Given the description of an element on the screen output the (x, y) to click on. 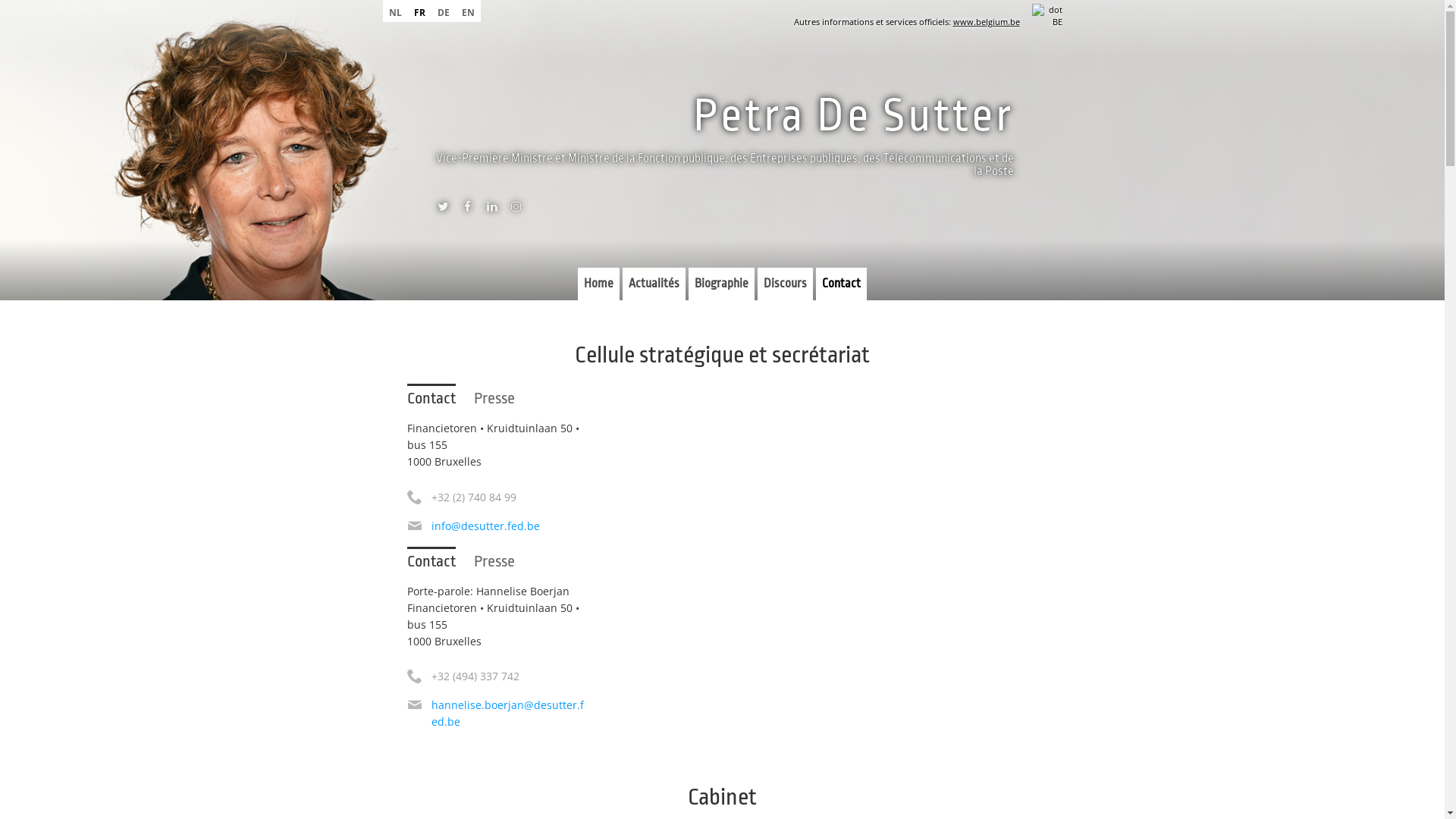
www.belgium.be Element type: text (985, 21)
Petra De Sutter Element type: text (853, 115)
Home Element type: text (598, 284)
Contact Element type: text (430, 397)
Presse Element type: text (493, 398)
hannelise.boerjan@desutter.fed.be Element type: text (506, 712)
facebook Element type: text (467, 209)
EN Element type: text (467, 11)
Contact Element type: text (841, 284)
NL Element type: text (394, 11)
Presse Element type: text (493, 561)
Aller au contenu principal Element type: text (73, 0)
linkedin Element type: text (491, 209)
Discours Element type: text (784, 284)
DE Element type: text (442, 11)
Contact Element type: text (430, 560)
twitter Element type: text (442, 209)
instagram Element type: text (515, 209)
Biographie Element type: text (721, 284)
info@desutter.fed.be Element type: text (484, 525)
FR Element type: text (419, 11)
